Given the description of an element on the screen output the (x, y) to click on. 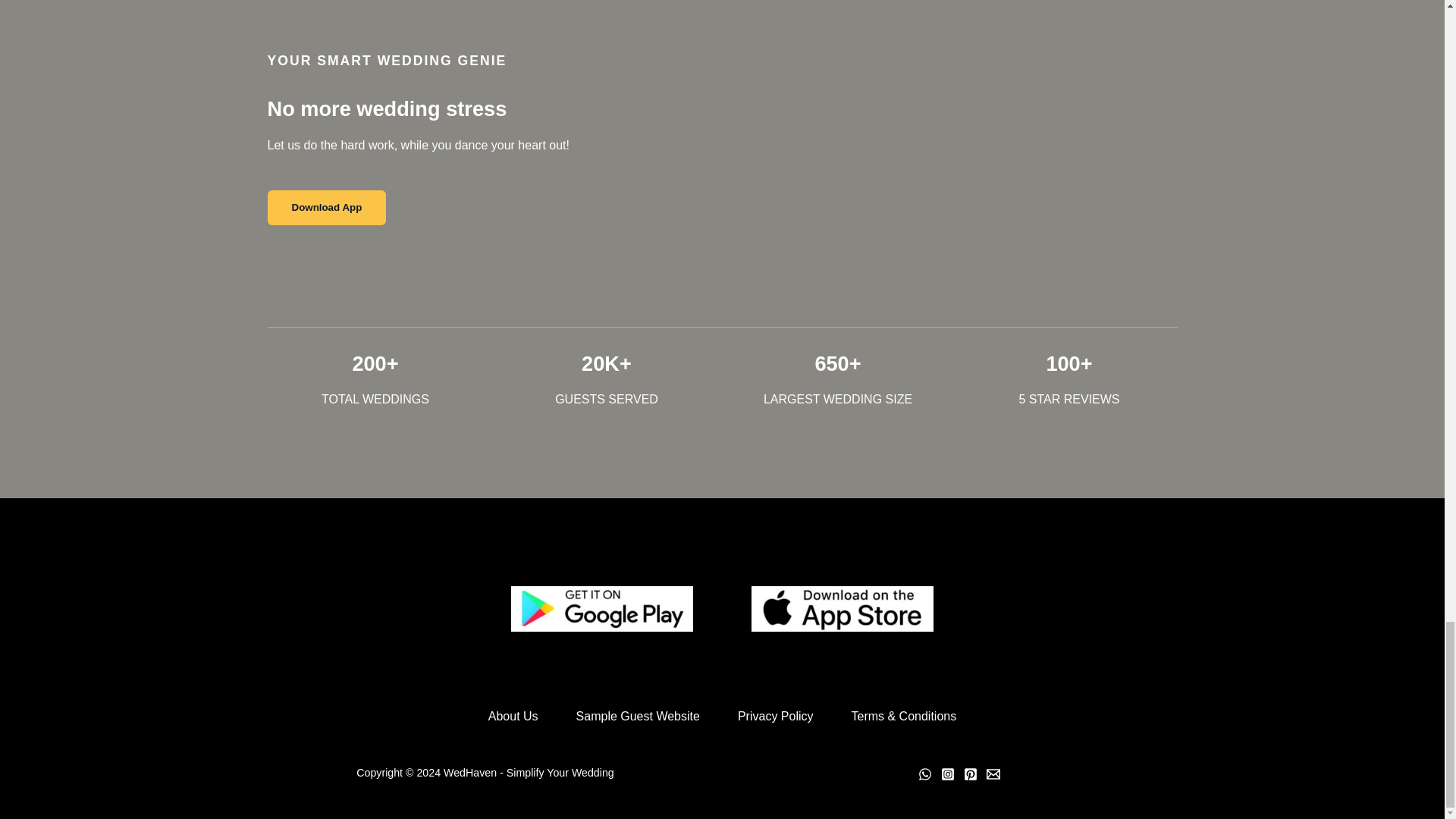
Download App (325, 207)
Privacy Policy (775, 716)
Sample Guest Website (638, 716)
About Us (512, 716)
